Given the description of an element on the screen output the (x, y) to click on. 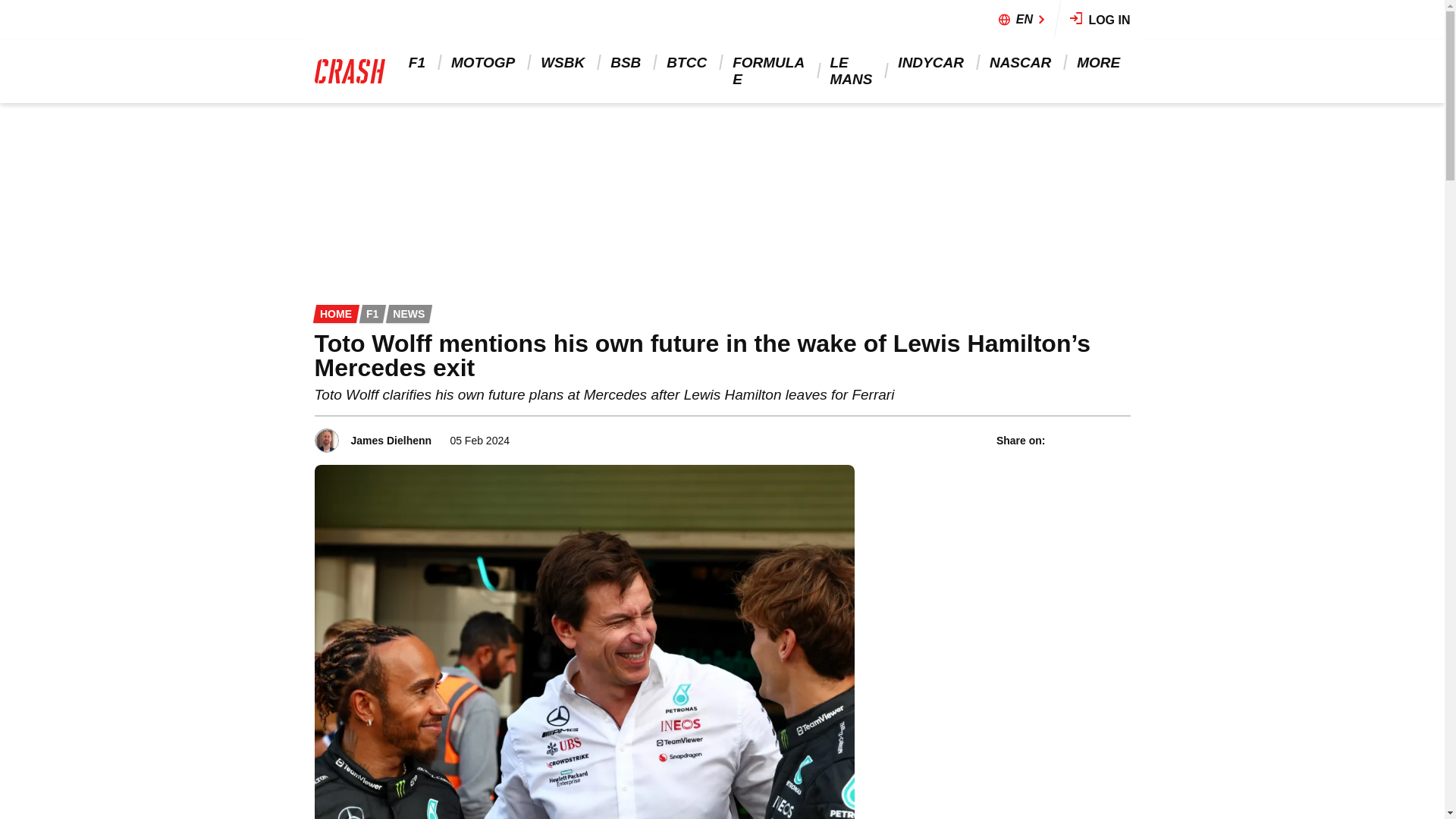
Share to X (1080, 440)
Share to Facebook (1060, 440)
Share to Linkedin (1099, 440)
F1 (418, 62)
LOG IN (1100, 19)
BSB (626, 62)
Share to Email (1119, 440)
WSBK (563, 62)
MOTOGP (484, 62)
